Given the description of an element on the screen output the (x, y) to click on. 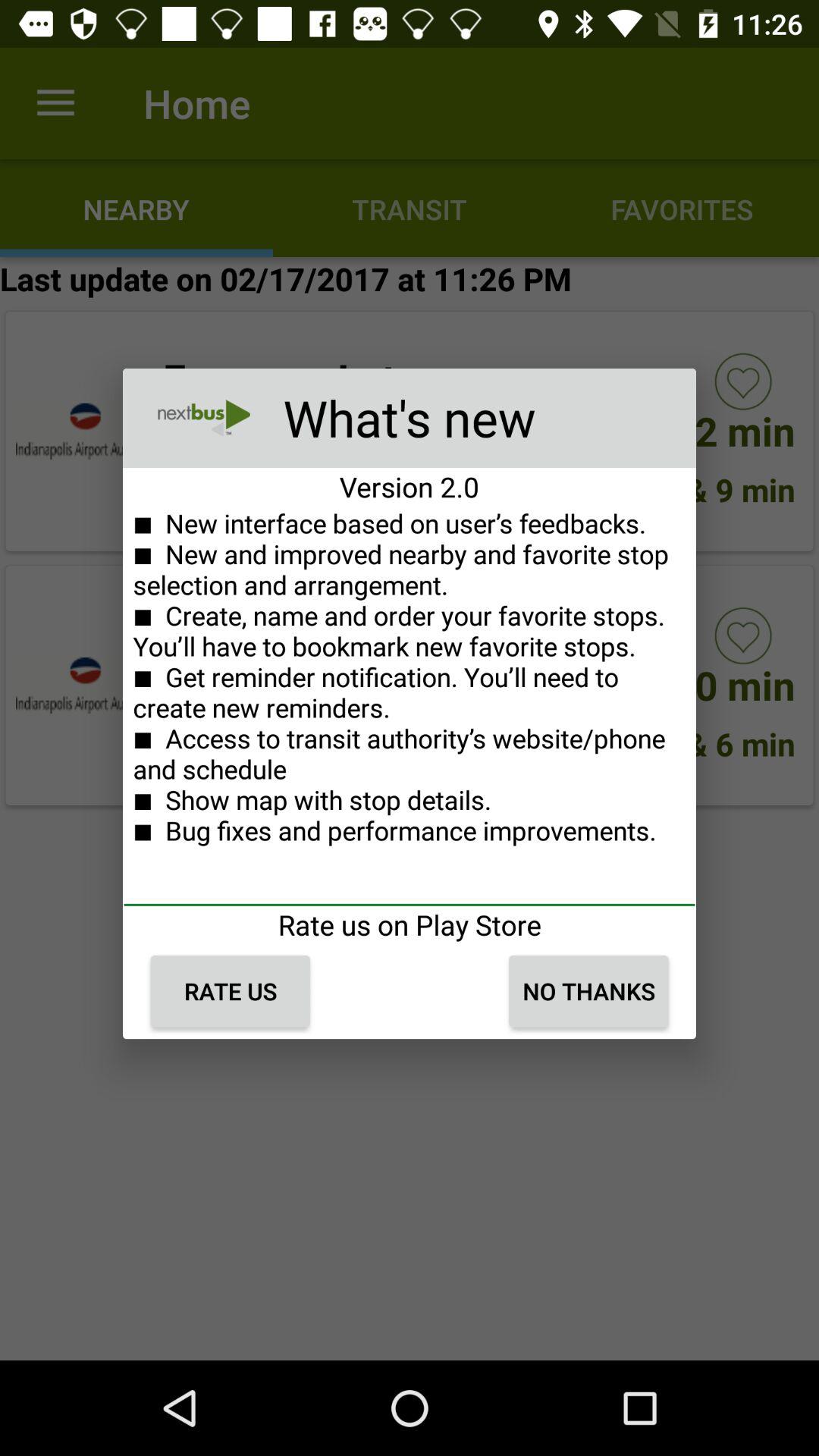
tap icon to the right of the rate us icon (588, 991)
